Given the description of an element on the screen output the (x, y) to click on. 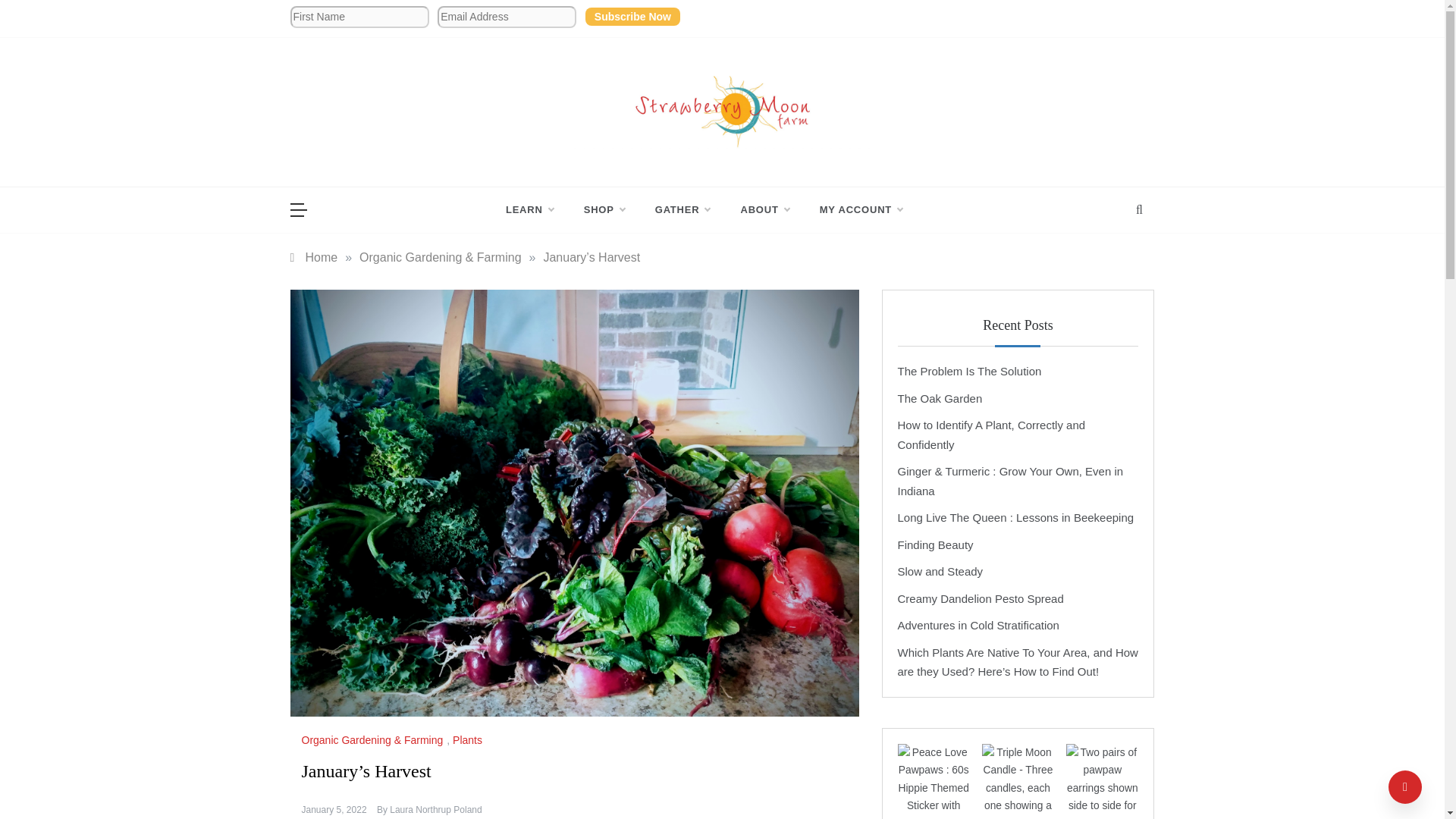
Blog (537, 209)
Subscribe Now (632, 16)
Upcoming Events (682, 209)
Strawberry Moon Farm (673, 160)
Farm Store (604, 209)
Go to Top (1405, 786)
Subscribe Now (632, 16)
